Given the description of an element on the screen output the (x, y) to click on. 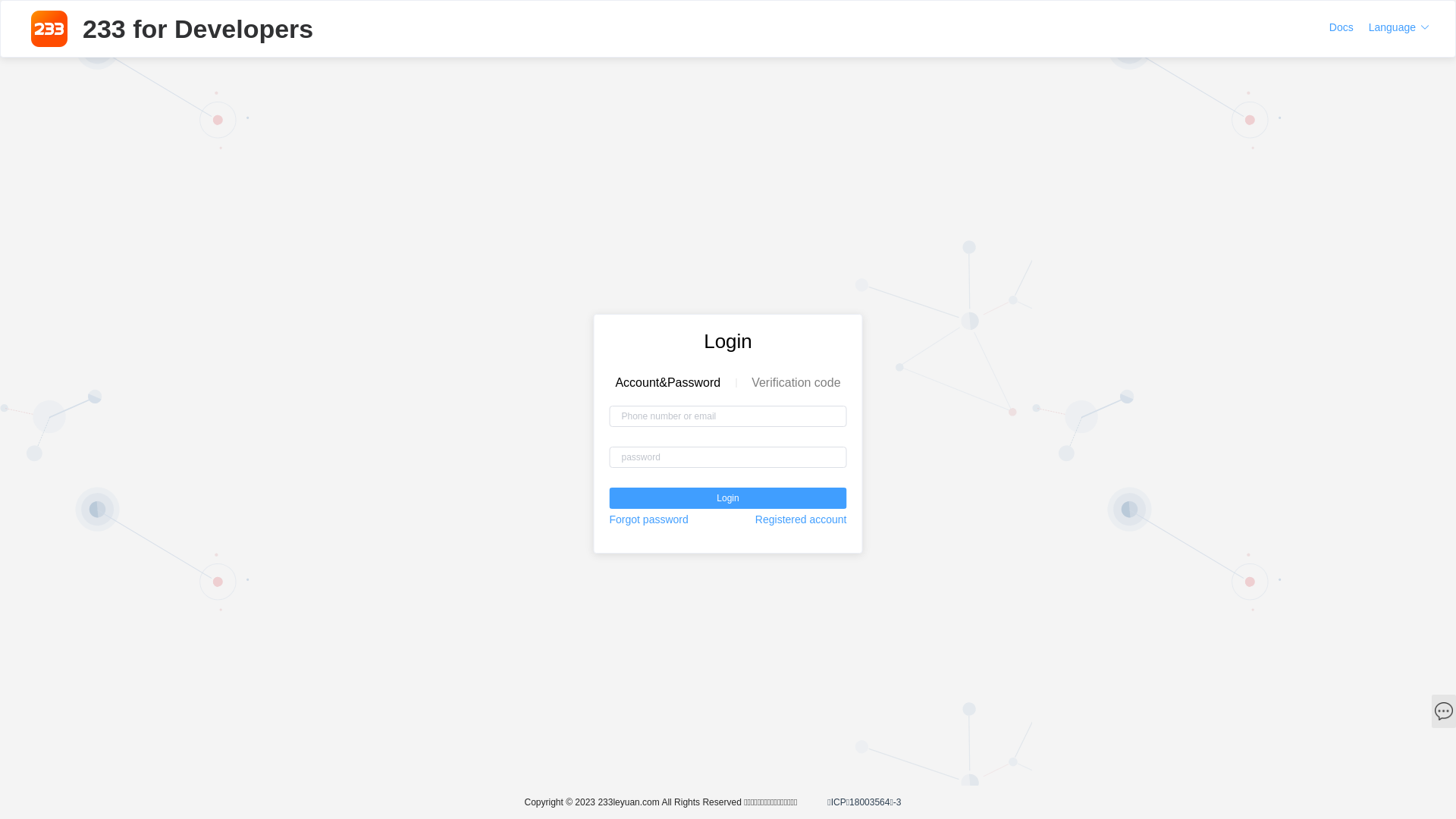
Forgot password Element type: text (648, 519)
Registered account Element type: text (801, 519)
Login Element type: text (728, 497)
